Given the description of an element on the screen output the (x, y) to click on. 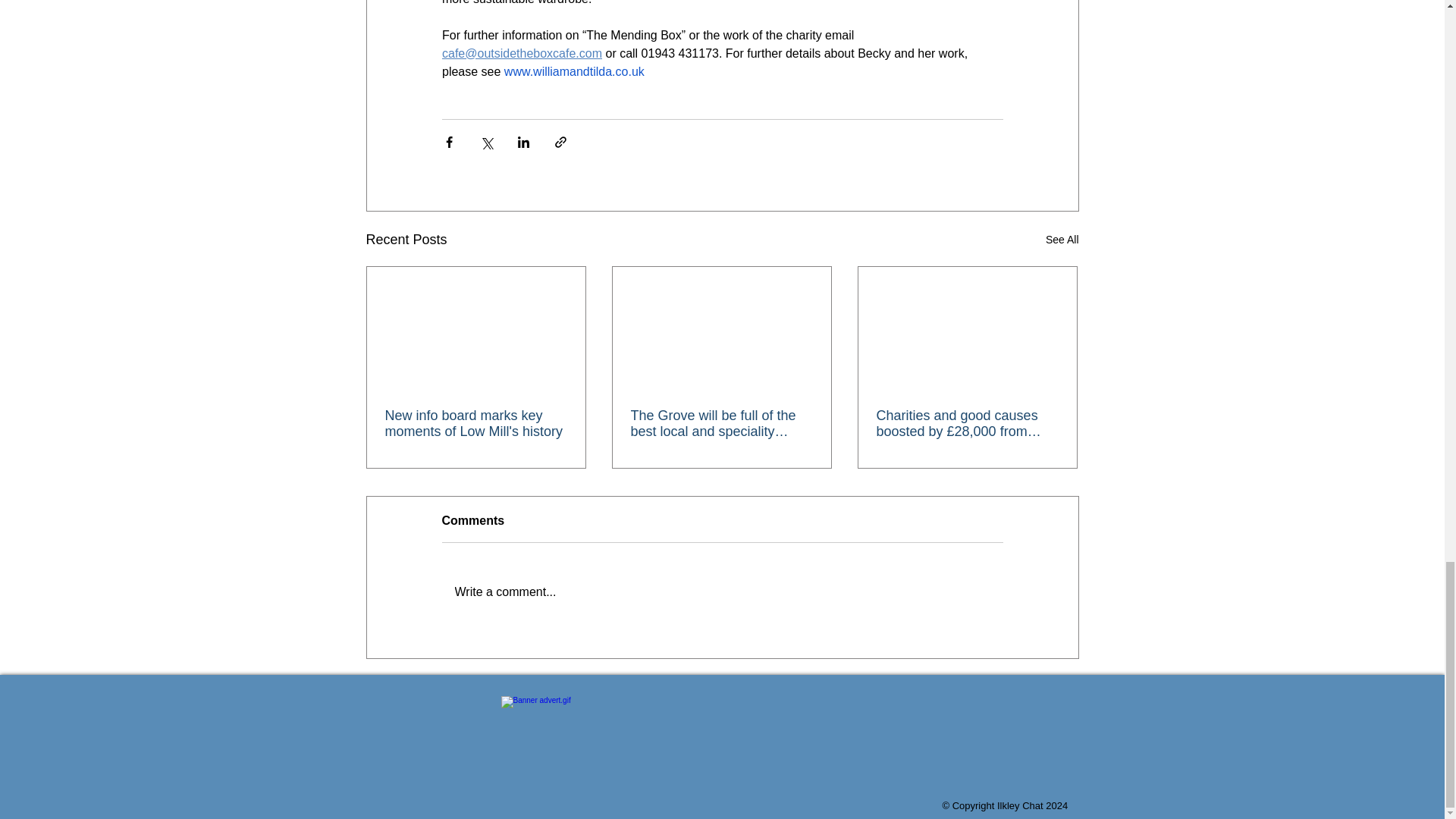
See All (1061, 239)
www.williamandtilda.co.uk (573, 71)
Write a comment... (722, 591)
New info board marks key moments of Low Mill's history (476, 423)
